Given the description of an element on the screen output the (x, y) to click on. 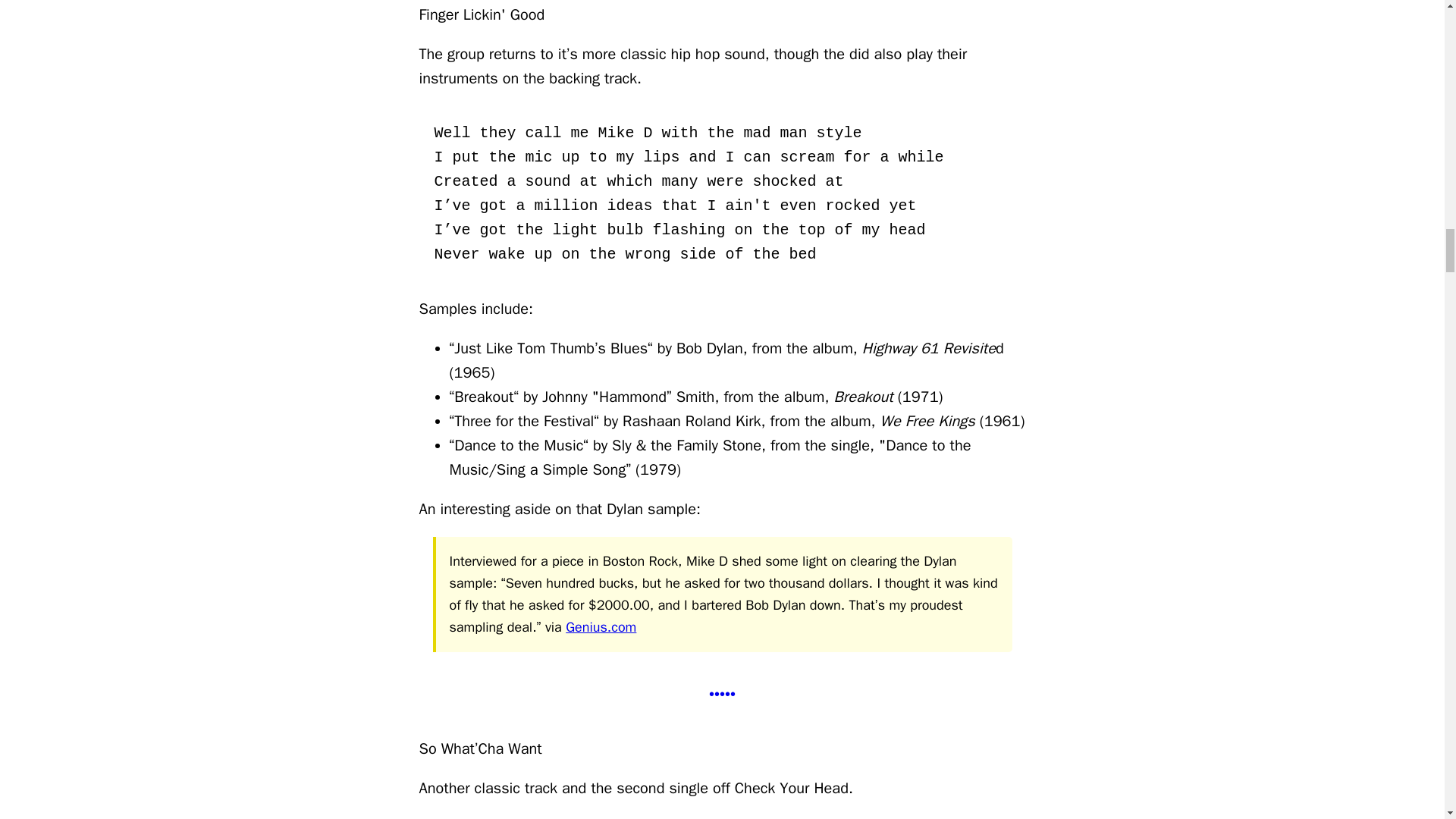
Genius.com (601, 627)
